Given the description of an element on the screen output the (x, y) to click on. 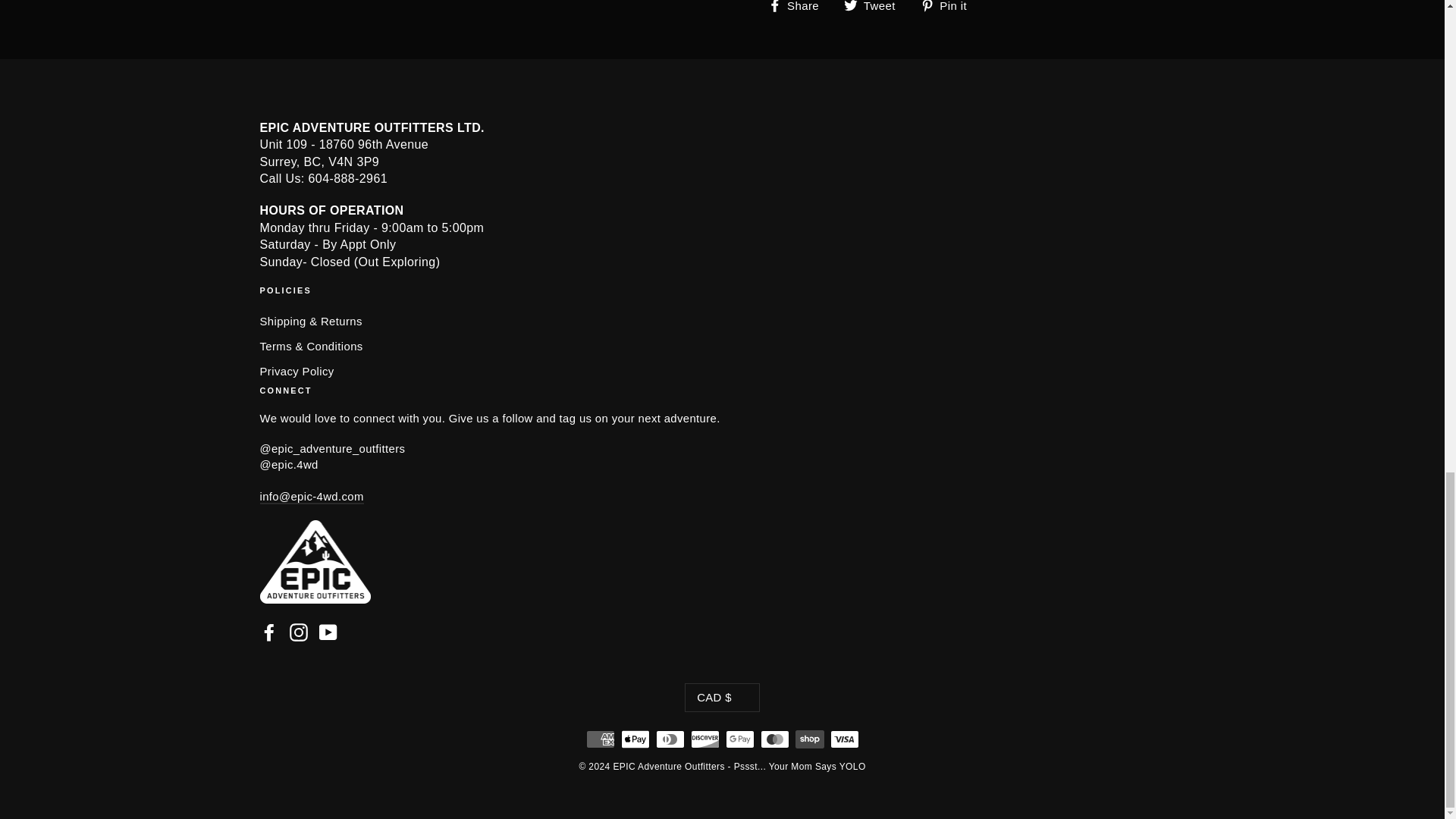
Discover (704, 739)
Share on Facebook (798, 6)
Google Pay (739, 739)
Visa (844, 739)
Tweet on Twitter (875, 6)
EPIC Adventure Outfitters on Instagram (298, 632)
American Express (599, 739)
Apple Pay (634, 739)
EPIC Adventure Outfitters on Facebook (268, 632)
EPIC Adventure Outfitters on YouTube (327, 632)
Pin on Pinterest (949, 6)
Shop Pay (809, 739)
Diners Club (669, 739)
Mastercard (774, 739)
